Given the description of an element on the screen output the (x, y) to click on. 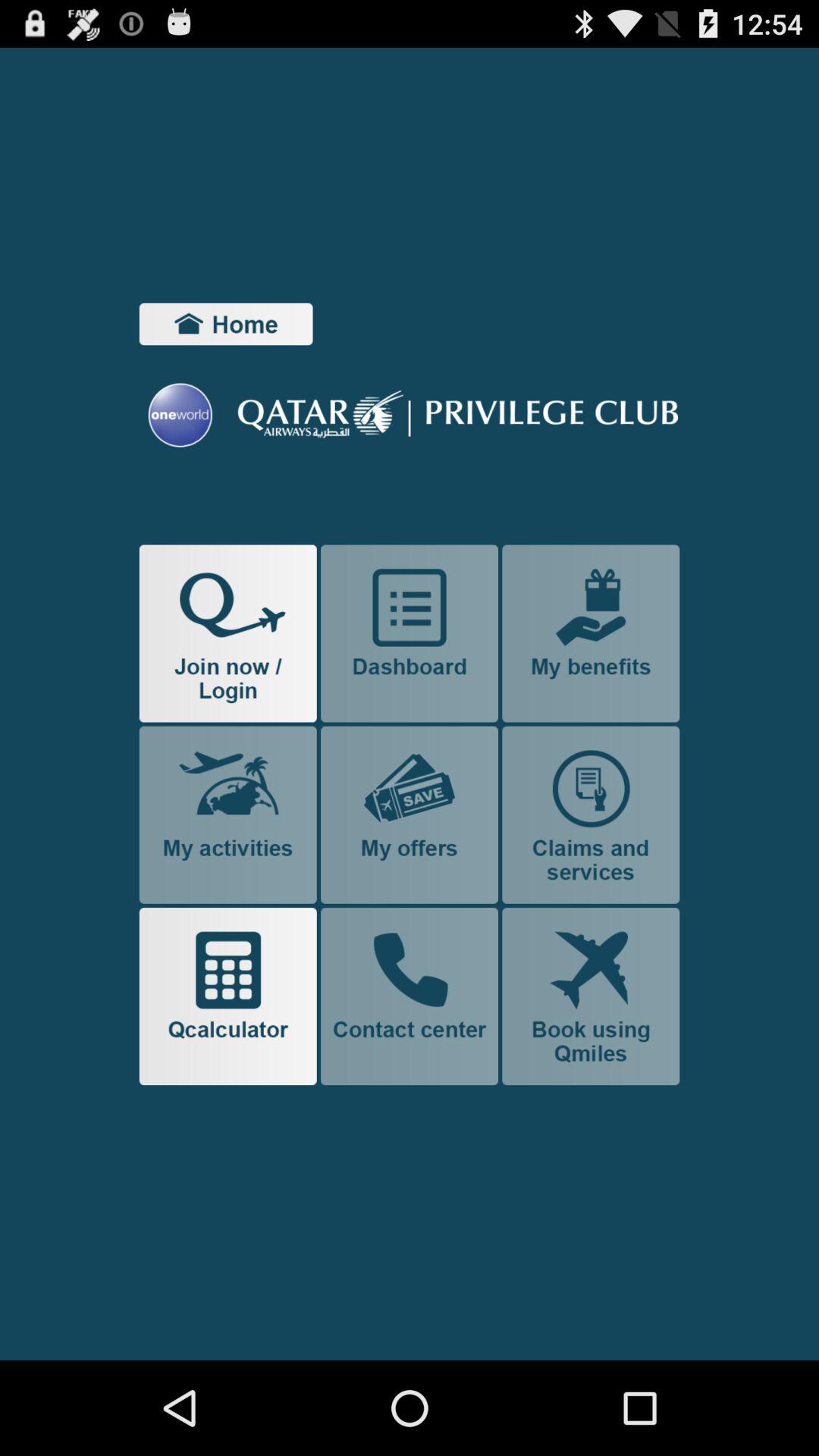
dashboard option (409, 633)
